Given the description of an element on the screen output the (x, y) to click on. 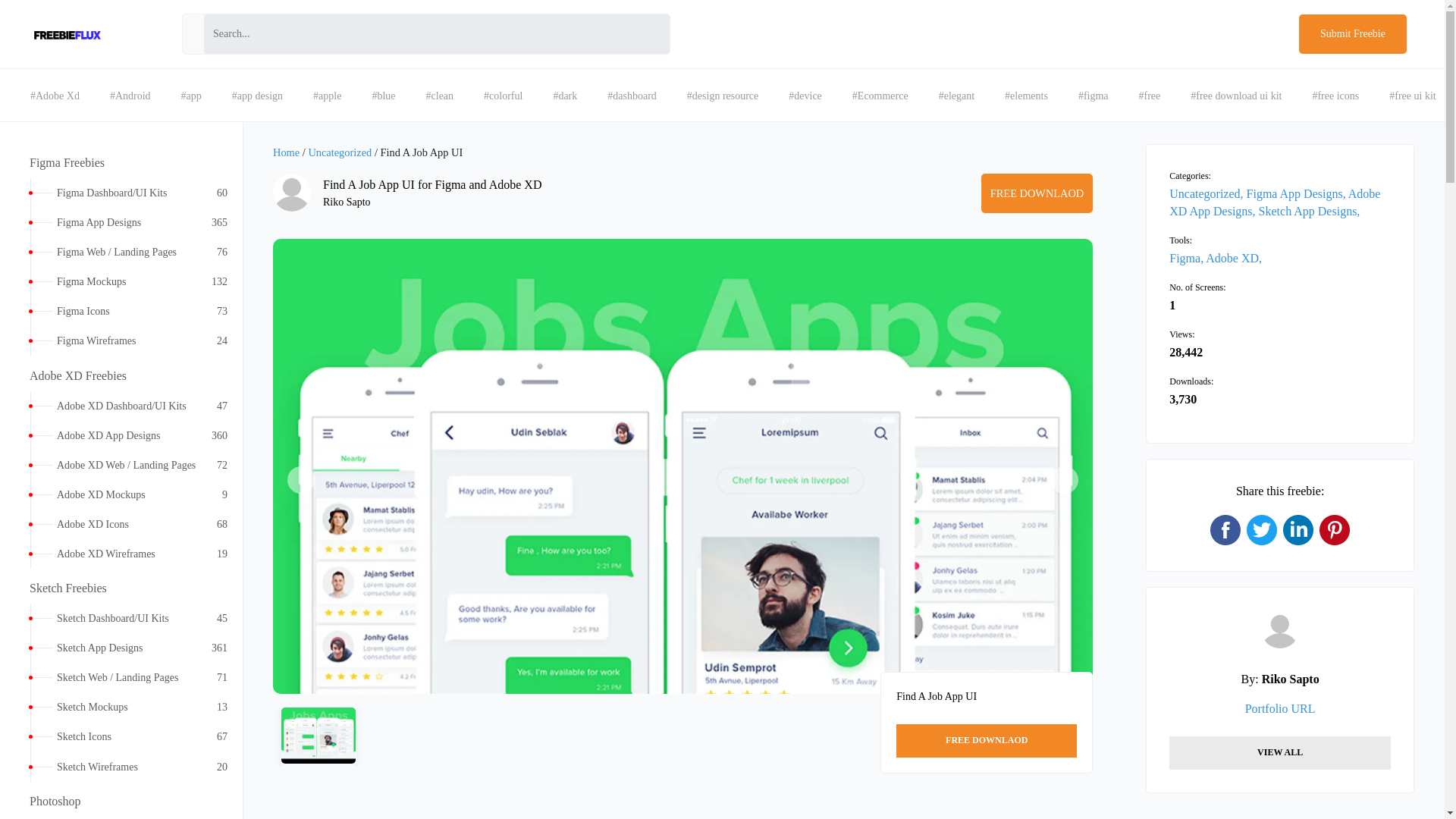
Download freebies from colorful tag (502, 95)
Download freebies from clean tag (439, 95)
Download freebies from dark tag (564, 95)
Download freebies from Ecommerce tag (880, 95)
Download freebies from apple tag (327, 95)
Submit Freebie (1352, 34)
Download freebies from elegant tag (956, 95)
Download freebies from free icons tag (1335, 95)
Download freebies from figma tag (1093, 95)
Download freebies from device tag (805, 95)
Download freebies from app tag (190, 95)
Download freebies from free tag (121, 281)
Download freebies from Adobe Xd tag (1150, 95)
FreebiesFlux (54, 95)
